Given the description of an element on the screen output the (x, y) to click on. 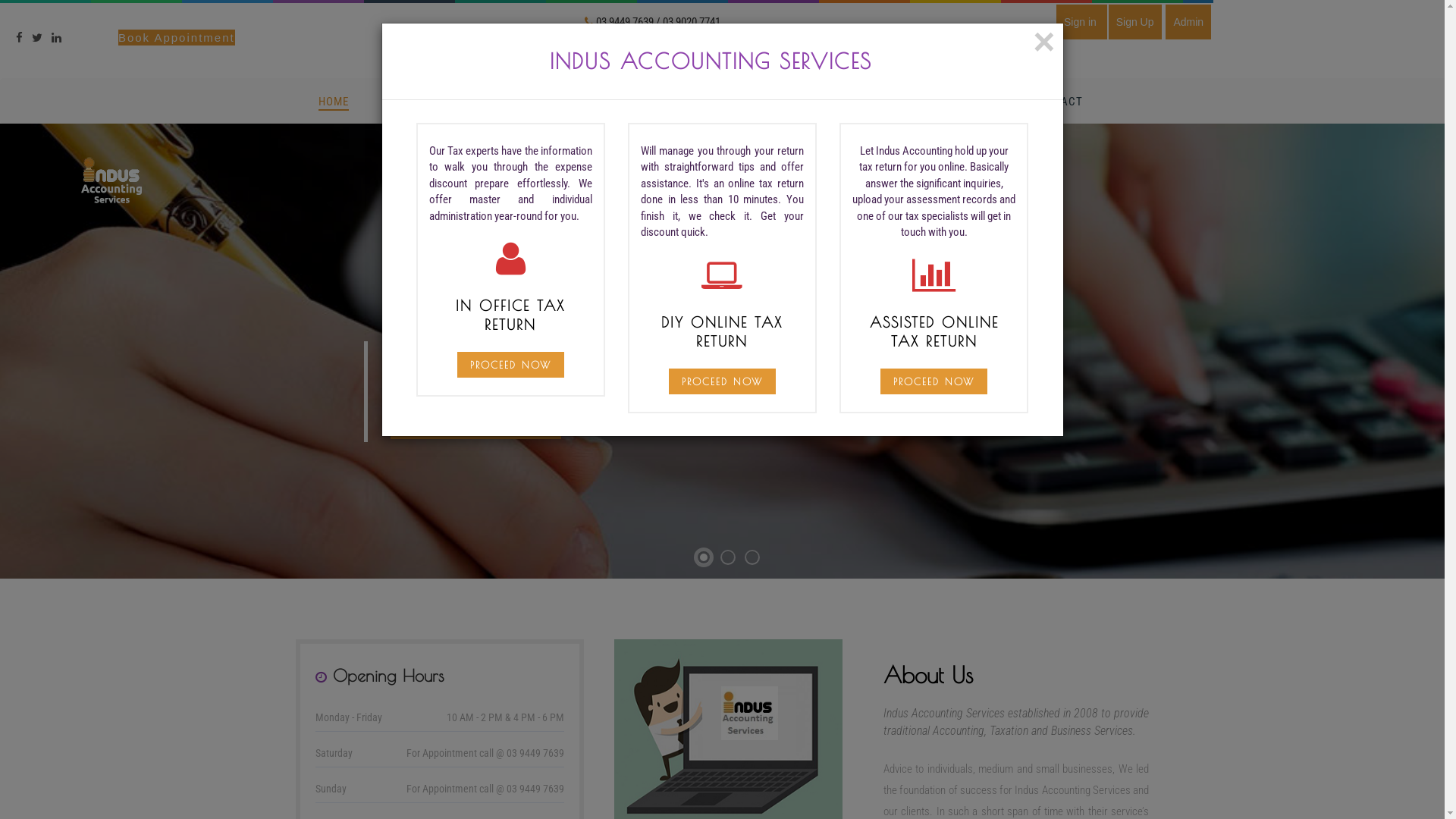
TAX RETURNS Element type: text (514, 101)
PROCEED NOW Element type: text (933, 382)
PROCEED NOW Element type: text (721, 382)
Sign Up Element type: text (1134, 22)
CONTACT Element type: text (1057, 101)
OTHER SERVICES Element type: text (647, 101)
Book Appointment Element type: text (176, 38)
Sign in Element type: text (1081, 22)
GET ADVICE Element type: text (776, 101)
mail@indusaccounting.com.au Element type: text (665, 55)
Admin Element type: text (1188, 22)
PROCEED NOW Element type: text (510, 365)
ABOUT Element type: text (411, 101)
BOOK AN APPOINTMENT Element type: text (475, 425)
HOME Element type: text (333, 102)
TOOLS Element type: text (878, 101)
CAREER Element type: text (965, 101)
